Given the description of an element on the screen output the (x, y) to click on. 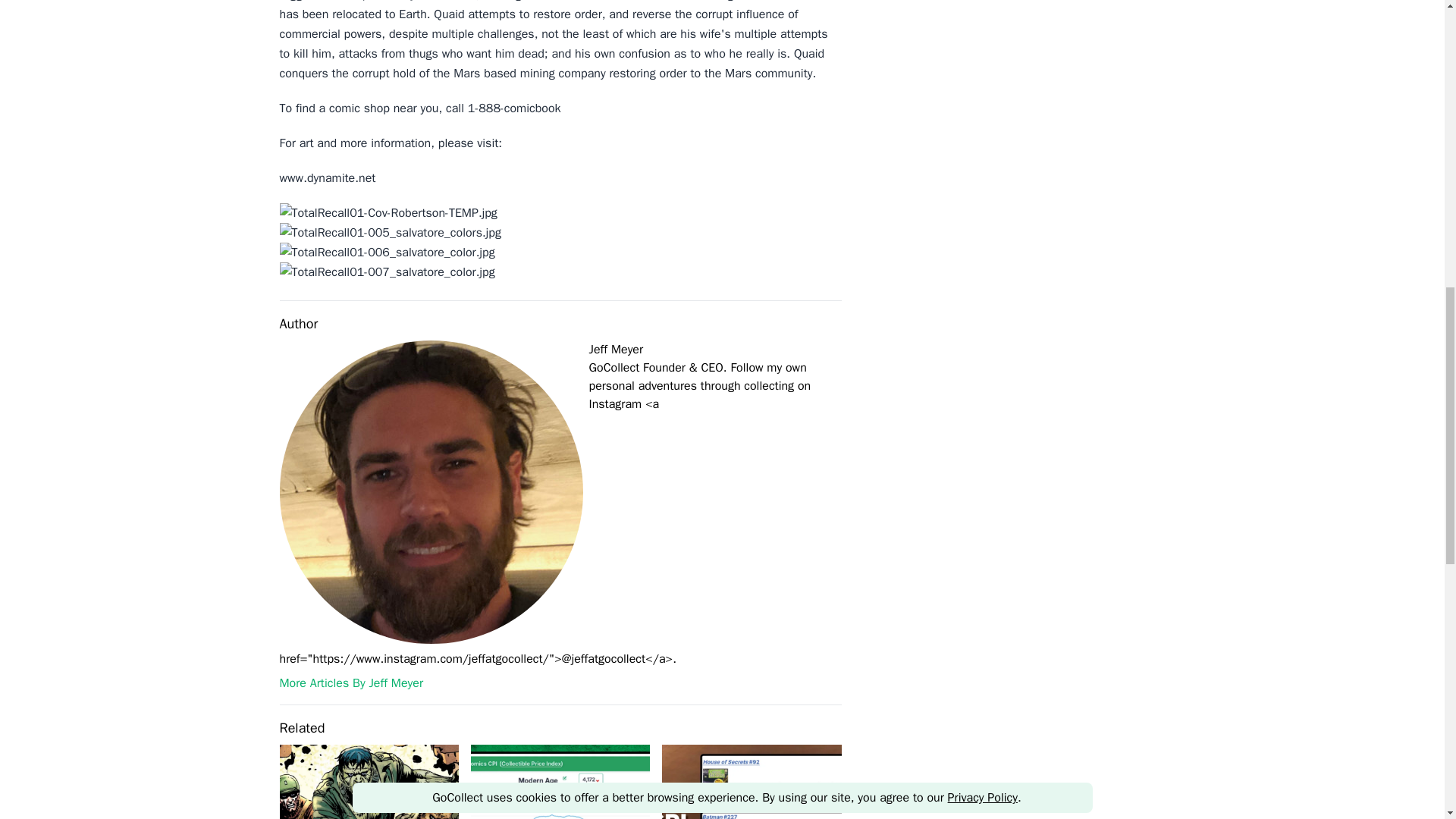
TotalRecall01-Cov-Robertson-TEMP.jpg (560, 212)
